Given the description of an element on the screen output the (x, y) to click on. 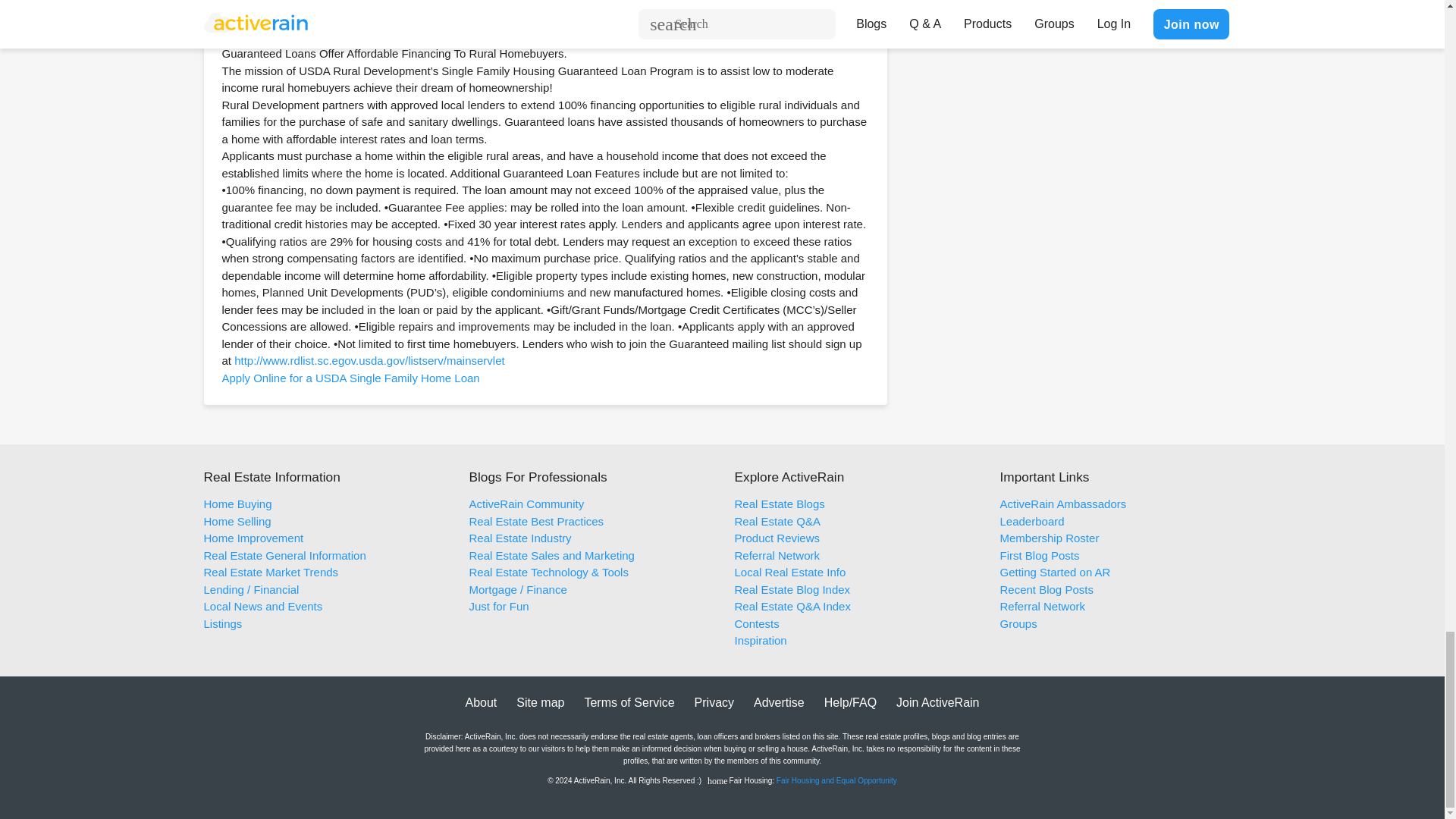
USDA Home Loan Application (350, 19)
USDA Home Loan Application (350, 377)
